Given the description of an element on the screen output the (x, y) to click on. 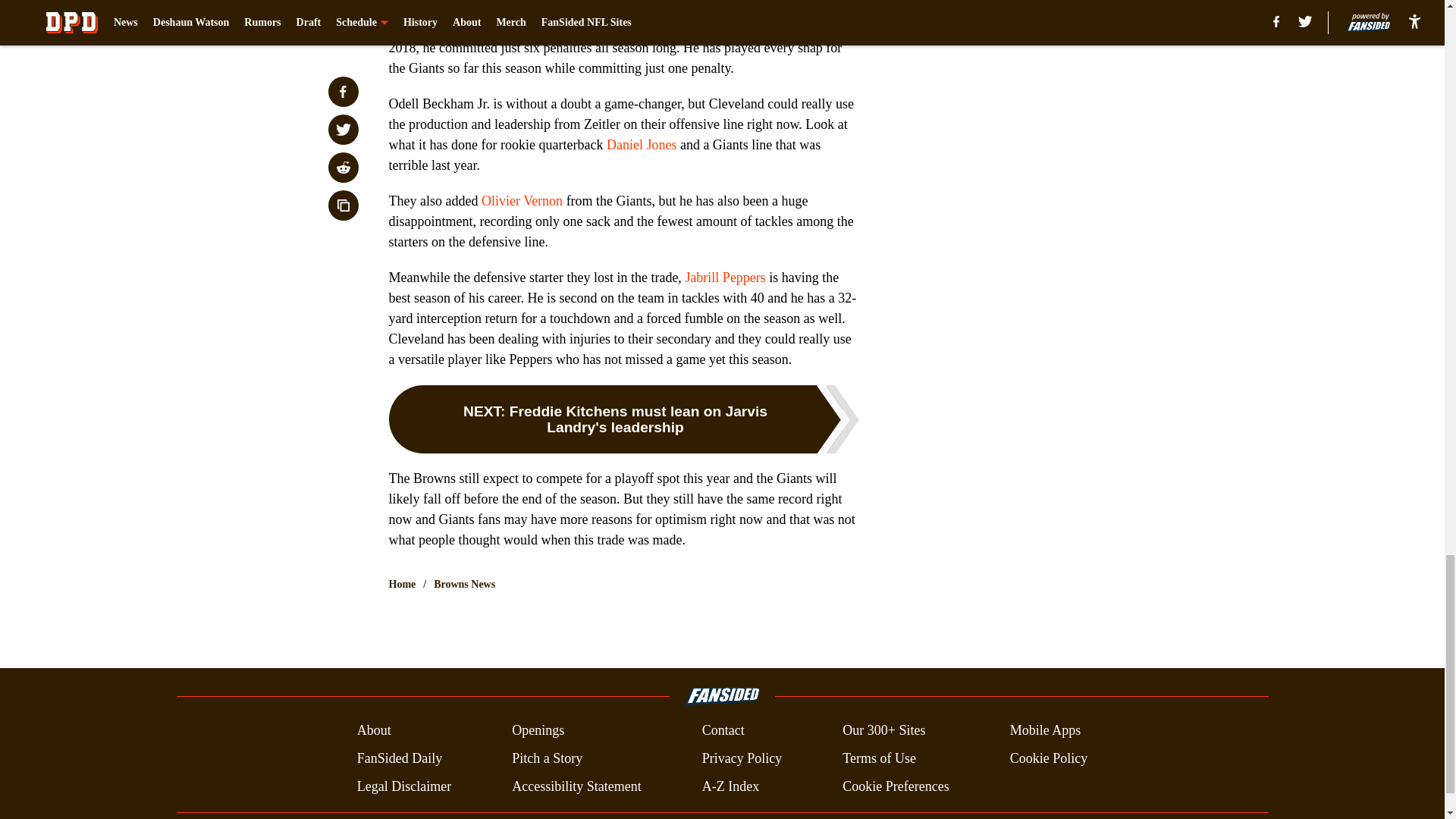
Jabrill Peppers (724, 277)
Olivier Vernon (521, 200)
Browns News (464, 584)
Daniel Jones (642, 144)
Home (401, 584)
